Given the description of an element on the screen output the (x, y) to click on. 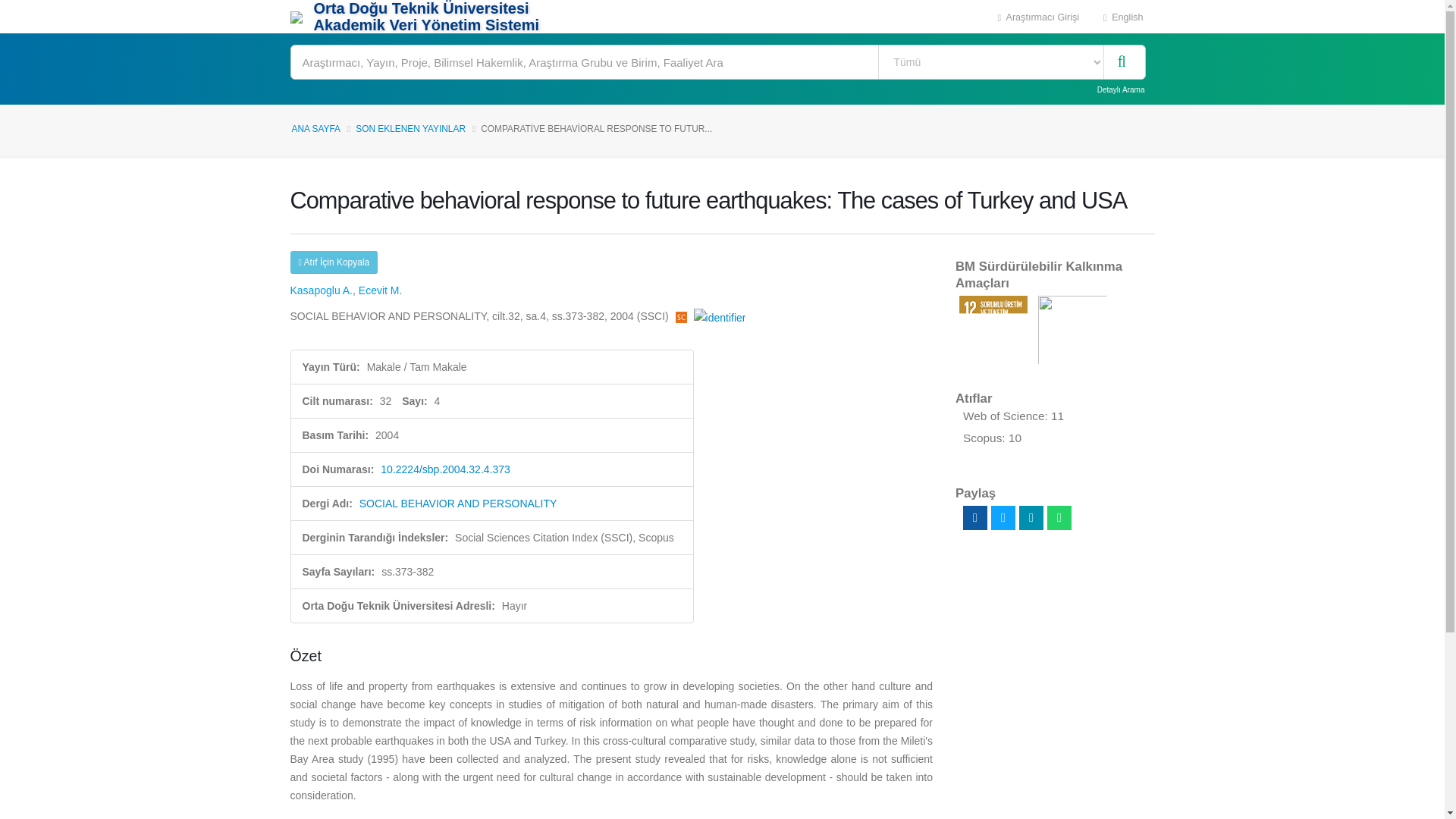
ANA SAYFA (315, 128)
Ecevit M. (380, 290)
SON EKLENEN YAYINLAR (410, 128)
SOCIAL BEHAVIOR AND PERSONALITY (458, 503)
A Kasapoglu (320, 290)
Kasapoglu A. (320, 290)
English (1123, 17)
